Given the description of an element on the screen output the (x, y) to click on. 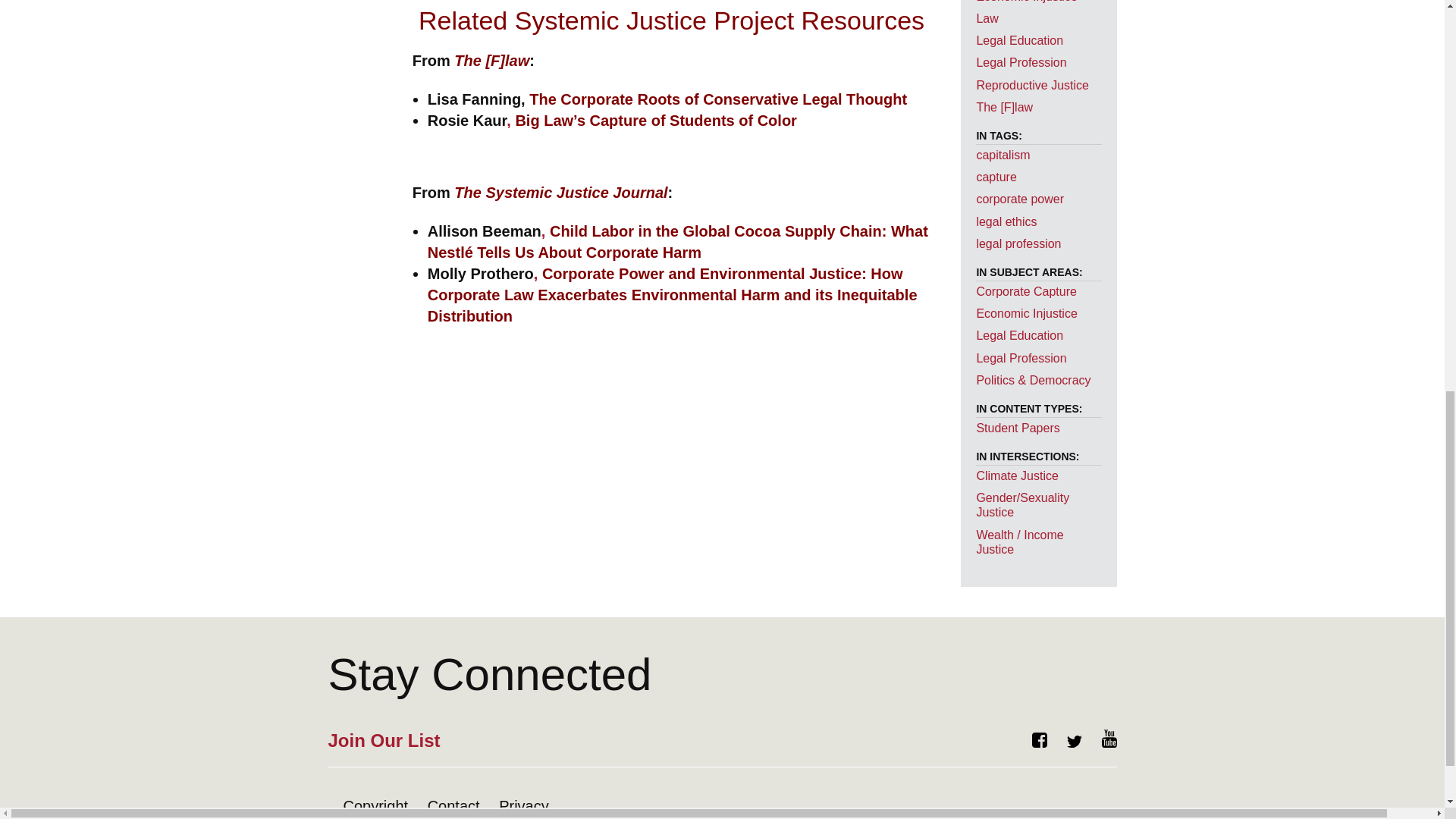
 The Corporate Roots of Conservative Legal Thought (716, 98)
See other items in Corporate Capture Subject Areas (1026, 291)
See other items in Legal Profession Categories (1020, 62)
See other items in Legal Education Categories (1018, 40)
See other items in Legal Education Subject Areas (1018, 335)
Law (986, 18)
See other items in Law Categories (986, 18)
See other items in Economic Injustice Categories (1026, 1)
See other items in Reproductive Justice Categories (1032, 84)
